Given the description of an element on the screen output the (x, y) to click on. 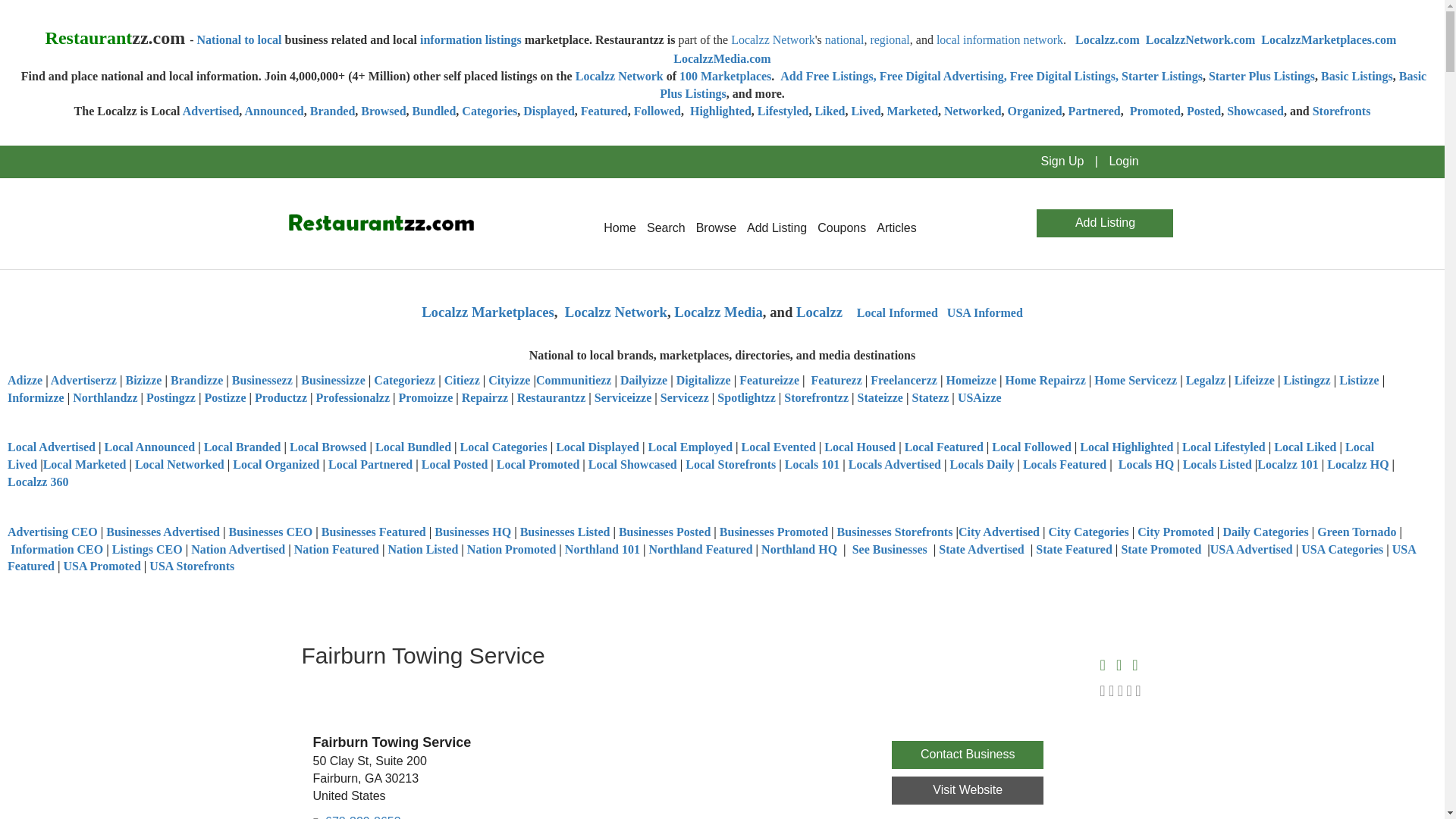
LocalzzNetwork.com (1200, 39)
Storefronts (1342, 110)
LocalzzMarketplaces.com (1328, 39)
Announced (273, 110)
Free Digital Listings, (1064, 75)
Networked (972, 110)
Promoted (1154, 110)
Lived (865, 110)
LocalzzMedia.com (721, 58)
Liked (828, 110)
